Given the description of an element on the screen output the (x, y) to click on. 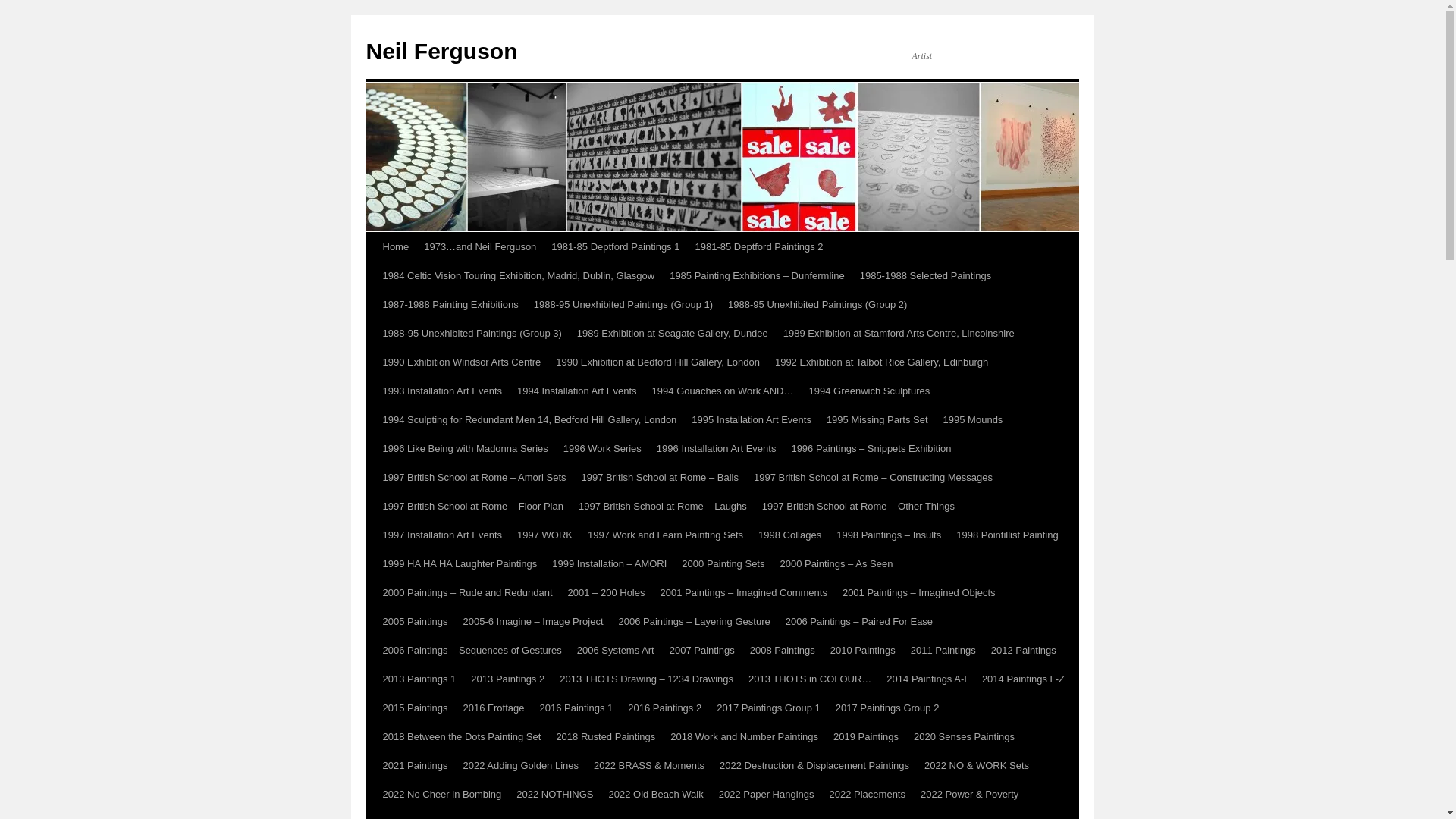
1997 WORK (544, 534)
1997 Installation Art Events (441, 534)
1995 Mounds (973, 419)
1989 Exhibition at Seagate Gallery, Dundee (672, 333)
1994 Installation Art Events (577, 390)
1996 Work Series (602, 448)
1981-85 Deptford Paintings 1 (615, 246)
1998 Collages (789, 534)
1995 Missing Parts Set (877, 419)
